Given the description of an element on the screen output the (x, y) to click on. 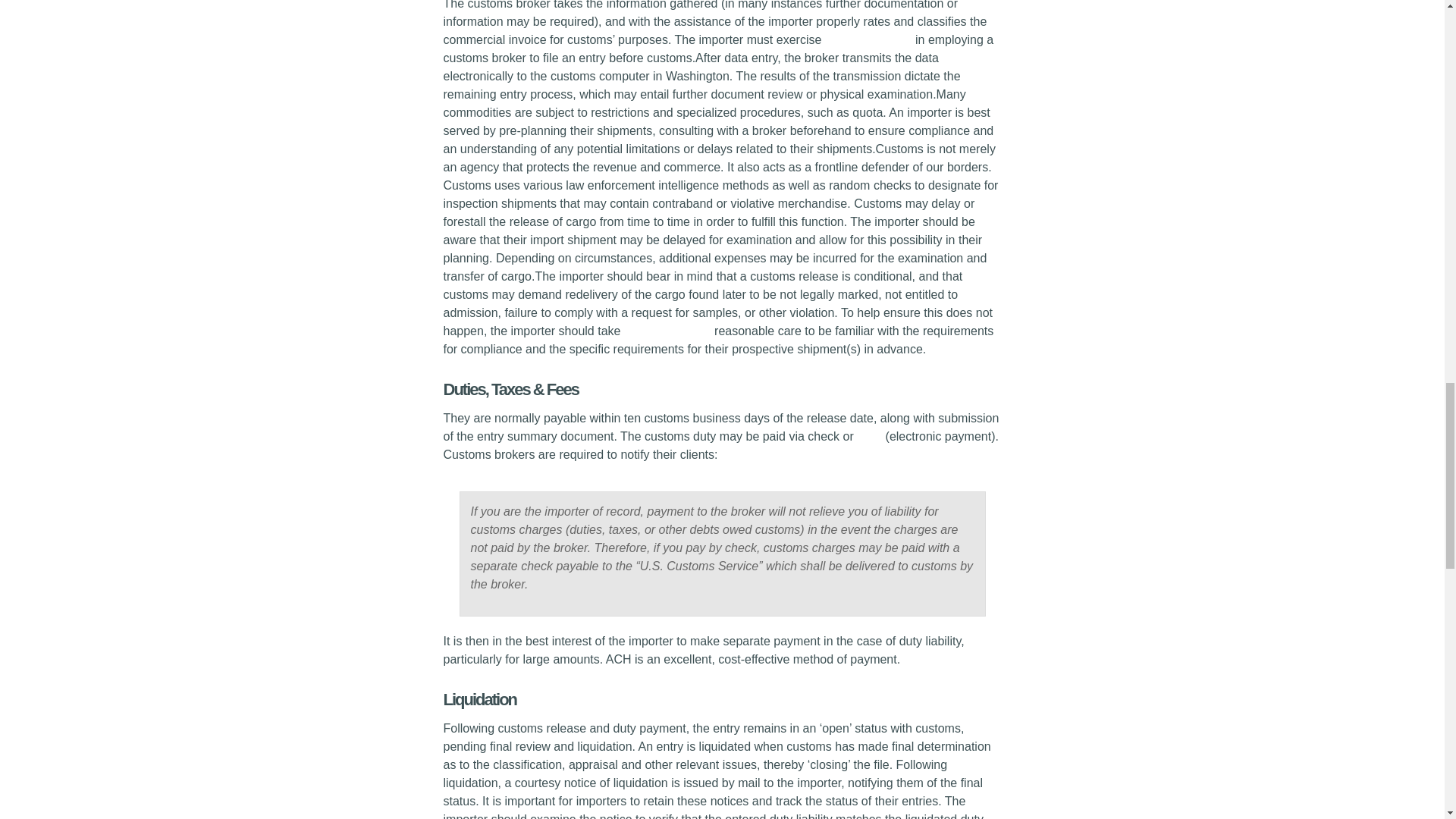
ACH (869, 436)
reasonable care (868, 39)
reasonable care (669, 330)
